Given the description of an element on the screen output the (x, y) to click on. 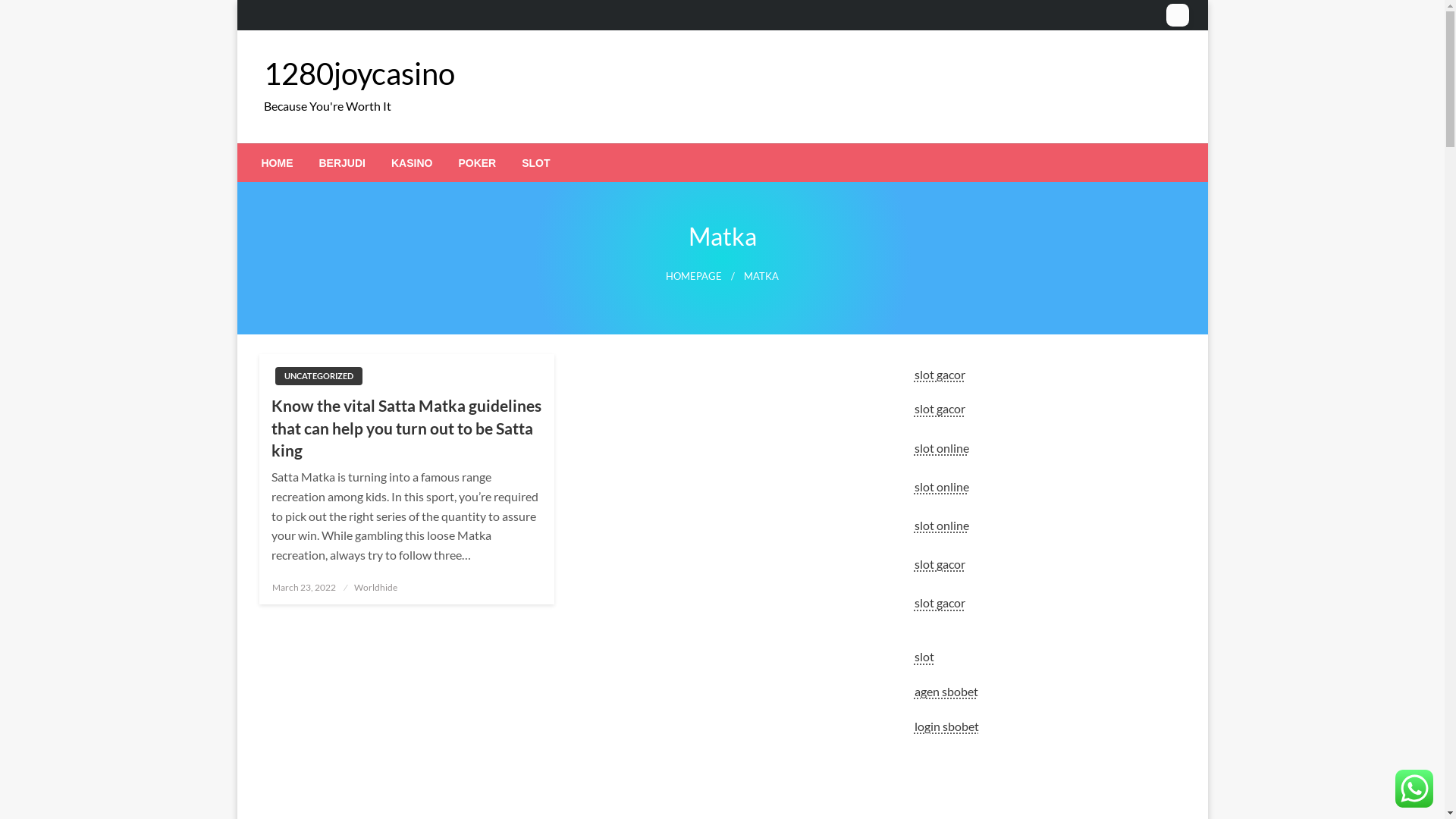
login sbobet Element type: text (946, 725)
agen sbobet Element type: text (946, 691)
1280joycasino Element type: text (359, 73)
slot online Element type: text (941, 486)
POKER Element type: text (476, 163)
slot gacor Element type: text (939, 602)
KASINO Element type: text (411, 163)
slot Element type: text (924, 656)
slot online Element type: text (941, 446)
slot gacor Element type: text (939, 374)
HOME Element type: text (277, 163)
slot gacor Element type: text (939, 563)
March 23, 2022 Element type: text (303, 587)
Worldhide Element type: text (375, 587)
SLOT Element type: text (535, 163)
BERJUDI Element type: text (342, 163)
slot gacor Element type: text (939, 408)
UNCATEGORIZED Element type: text (318, 376)
slot online Element type: text (941, 524)
HOMEPAGE Element type: text (693, 276)
